Given the description of an element on the screen output the (x, y) to click on. 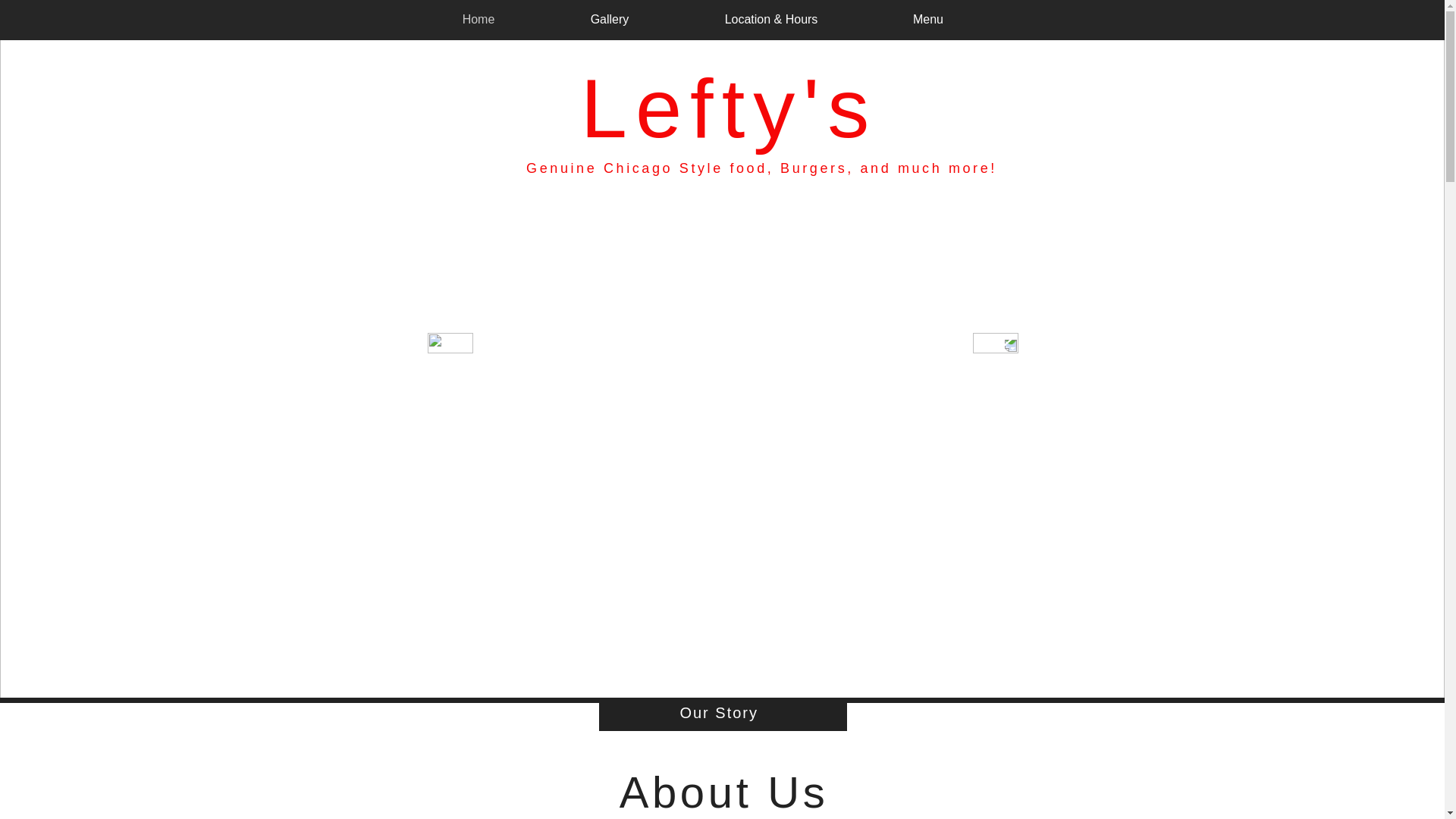
Menu (928, 19)
Home (477, 19)
Gallery (610, 19)
